Given the description of an element on the screen output the (x, y) to click on. 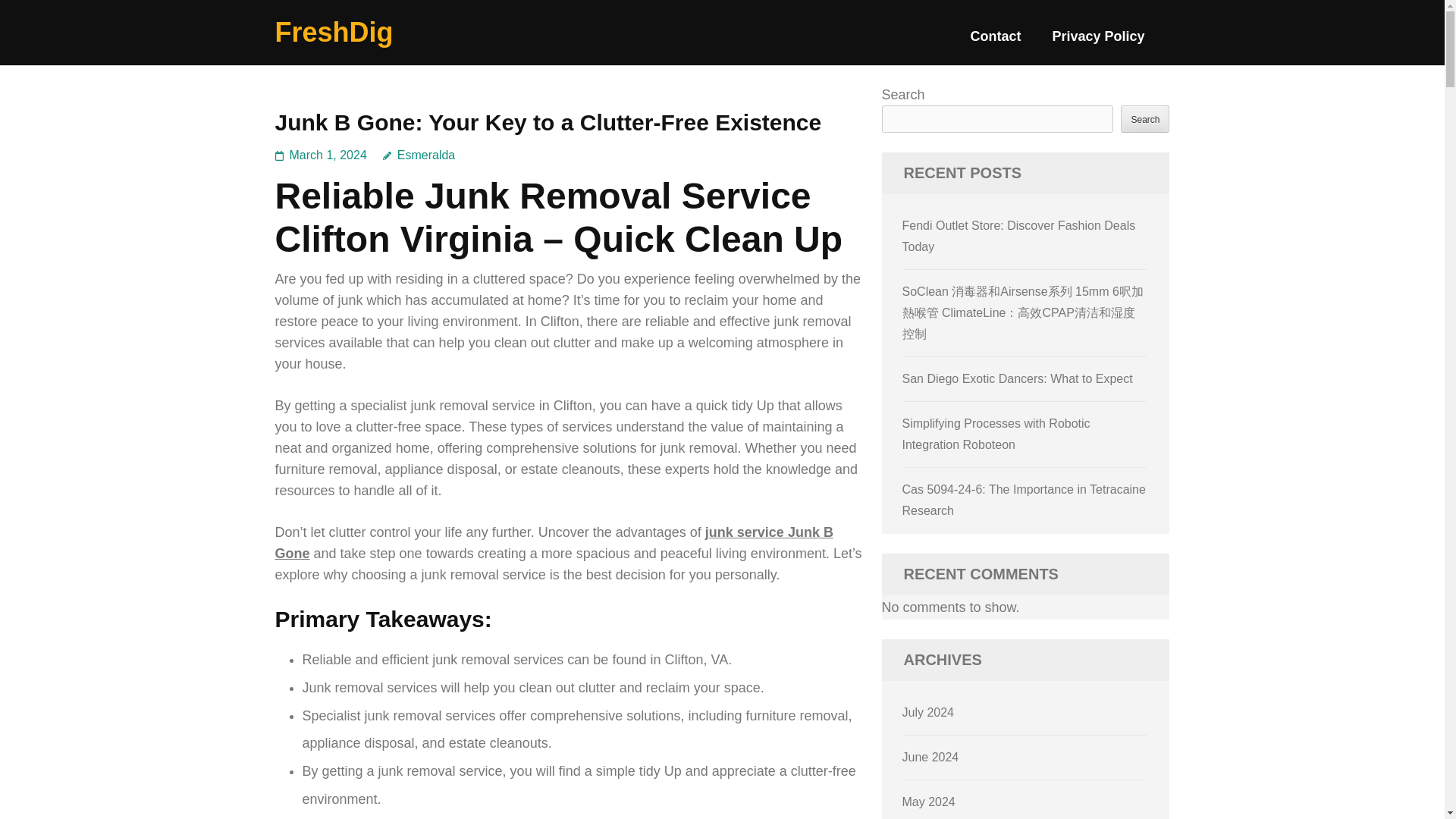
Fendi Outlet Store: Discover Fashion Deals Today (1018, 236)
San Diego Exotic Dancers: What to Expect (1017, 378)
Cas 5094-24-6: The Importance in Tetracaine Research (1023, 499)
July 2024 (928, 712)
Privacy Policy (1097, 42)
June 2024 (930, 757)
junk service Junk B Gone (553, 542)
Search (1145, 118)
FreshDig (334, 31)
Esmeralda (418, 154)
Contact (994, 42)
March 1, 2024 (327, 154)
May 2024 (928, 801)
Simplifying Processes with Robotic Integration Roboteon (996, 433)
